Given the description of an element on the screen output the (x, y) to click on. 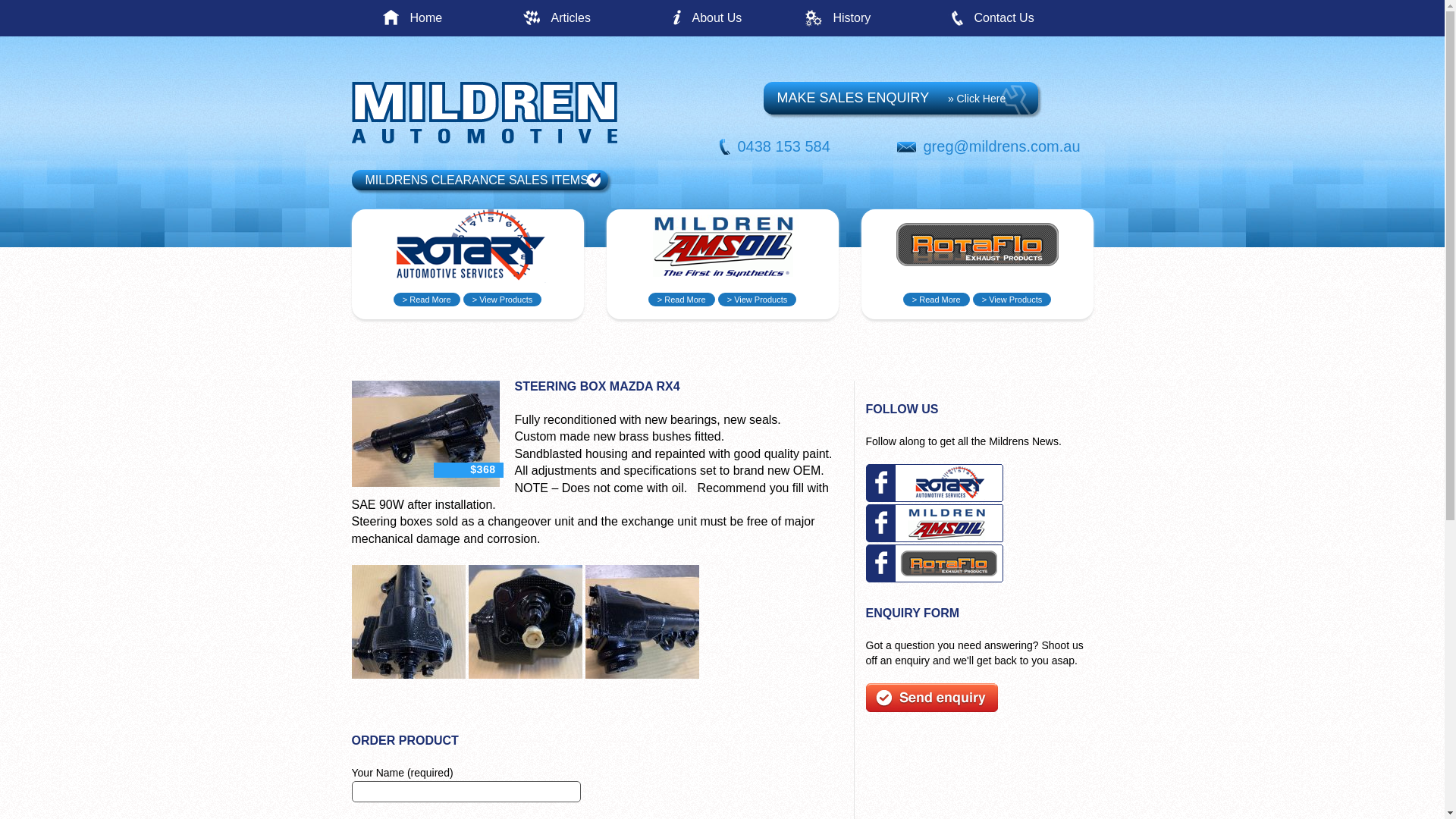
History Element type: text (888, 17)
> Read More Element type: text (426, 299)
Send Enquiry Element type: hover (931, 708)
Contact Us Element type: text (1029, 17)
greg@mildrens.com.au Element type: text (1001, 146)
About Us Element type: text (747, 17)
Articles Element type: text (606, 17)
> View Products Element type: text (1011, 299)
MILDRENS CLEARANCE SALES ITEMS Element type: text (479, 179)
> Read More Element type: text (936, 299)
> View Products Element type: text (502, 299)
> Read More Element type: text (681, 299)
> View Products Element type: text (757, 299)
Home Element type: text (465, 17)
